Given the description of an element on the screen output the (x, y) to click on. 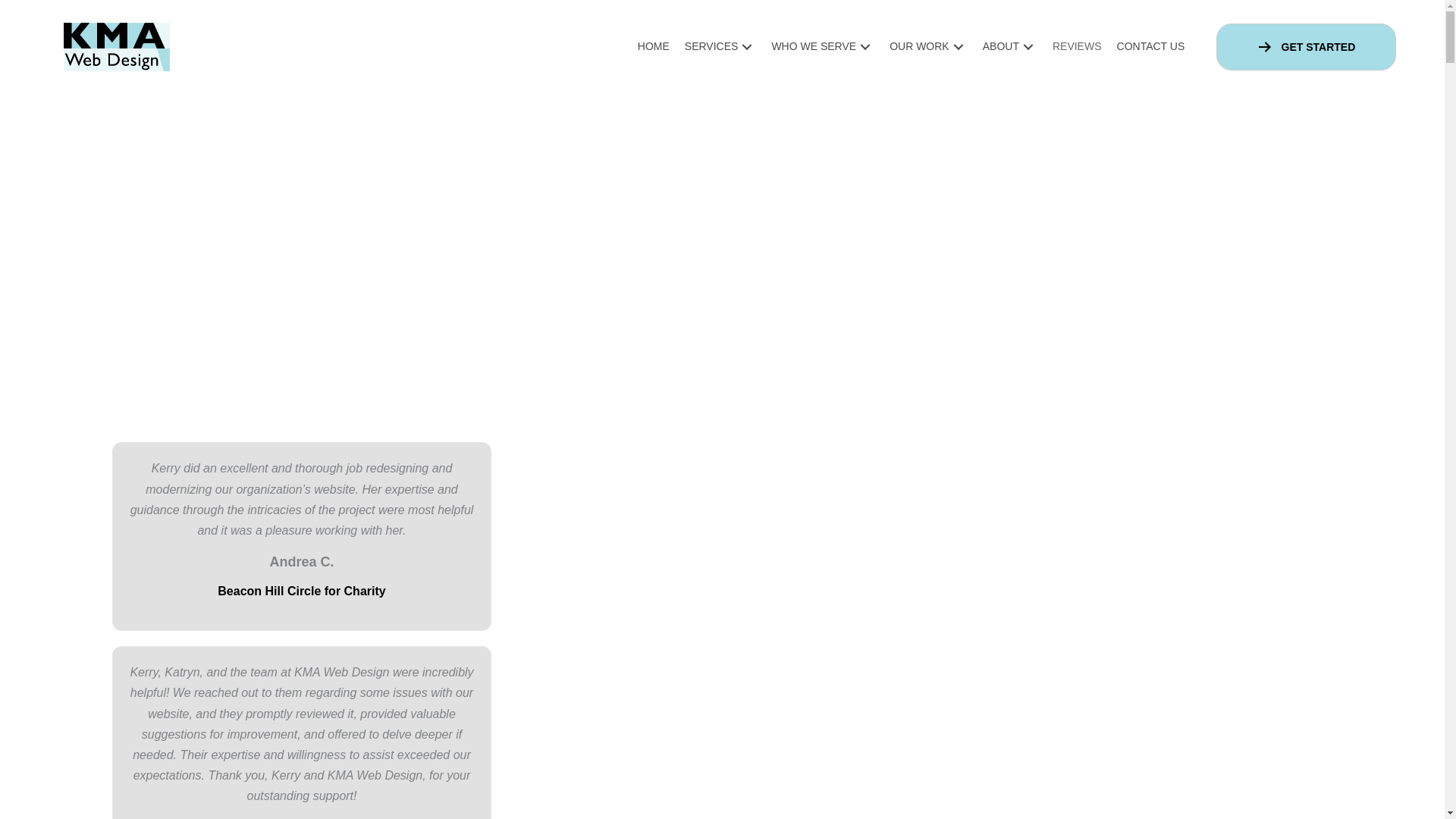
HOME (653, 46)
REVIEWS (1077, 46)
OUR WORK (928, 46)
WHO WE SERVE (822, 46)
SERVICES (720, 46)
GET STARTED (1305, 46)
CONTACT US (1150, 46)
ABOUT (1010, 46)
